Given the description of an element on the screen output the (x, y) to click on. 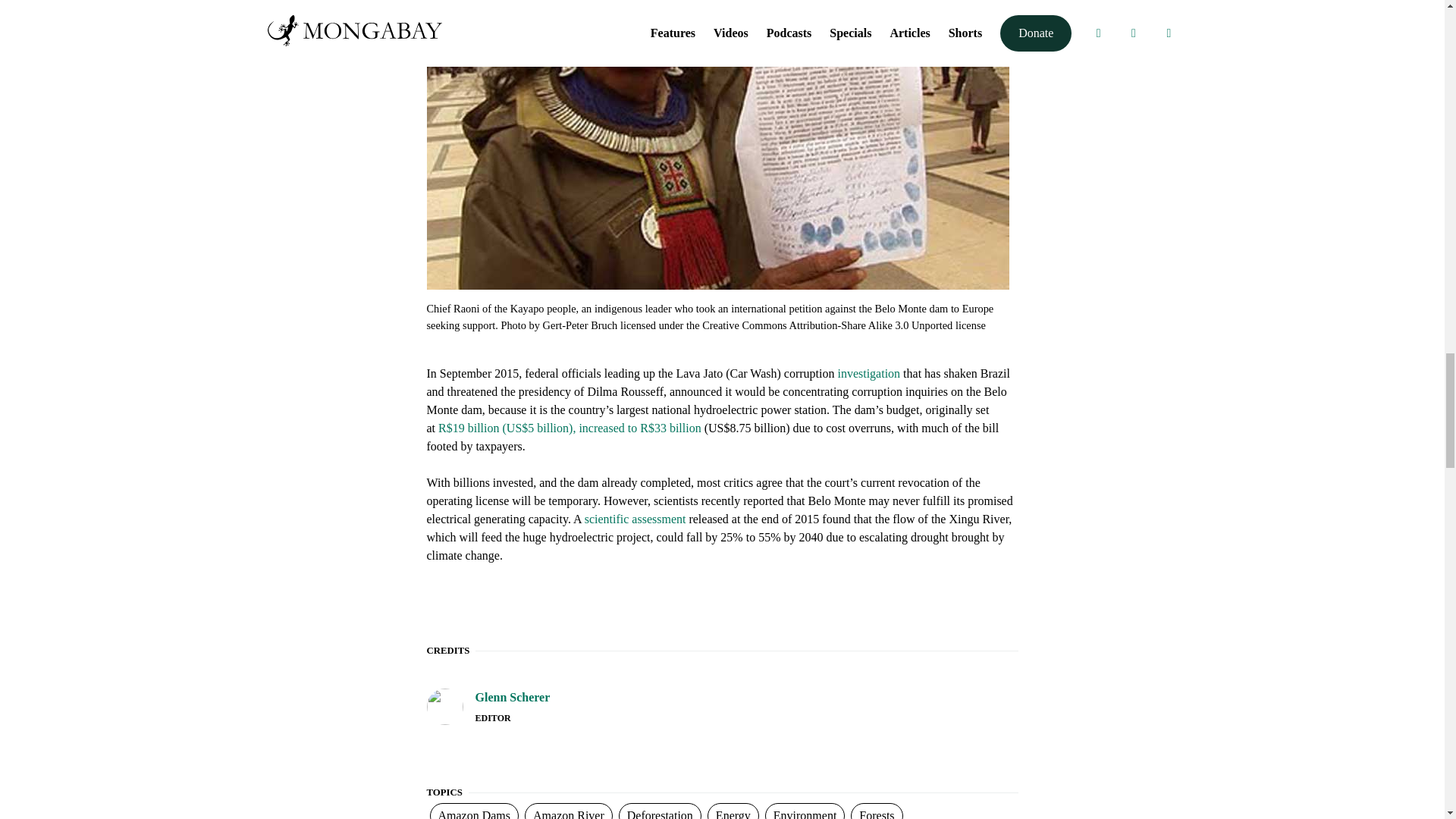
Posts by Glenn Scherer (512, 697)
